Given the description of an element on the screen output the (x, y) to click on. 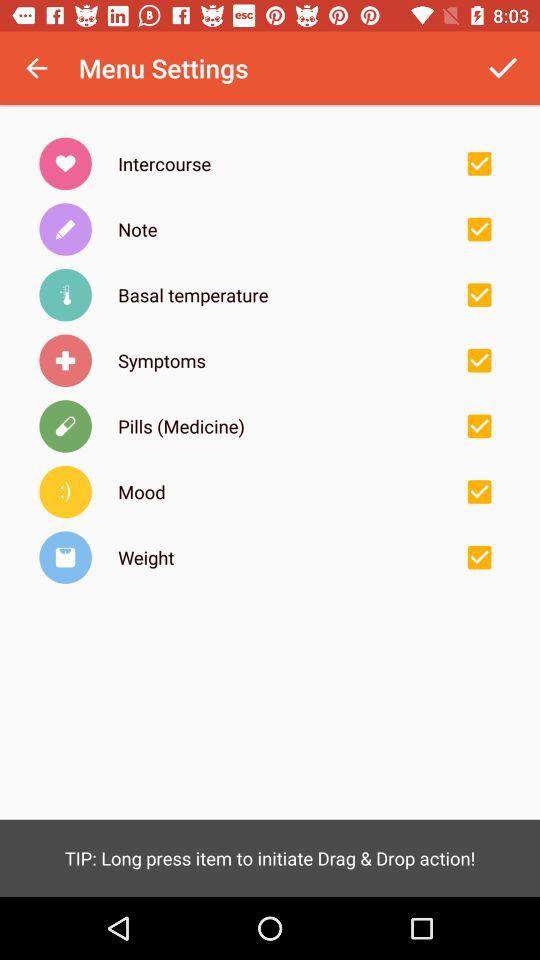
toggle settings option (479, 163)
